Given the description of an element on the screen output the (x, y) to click on. 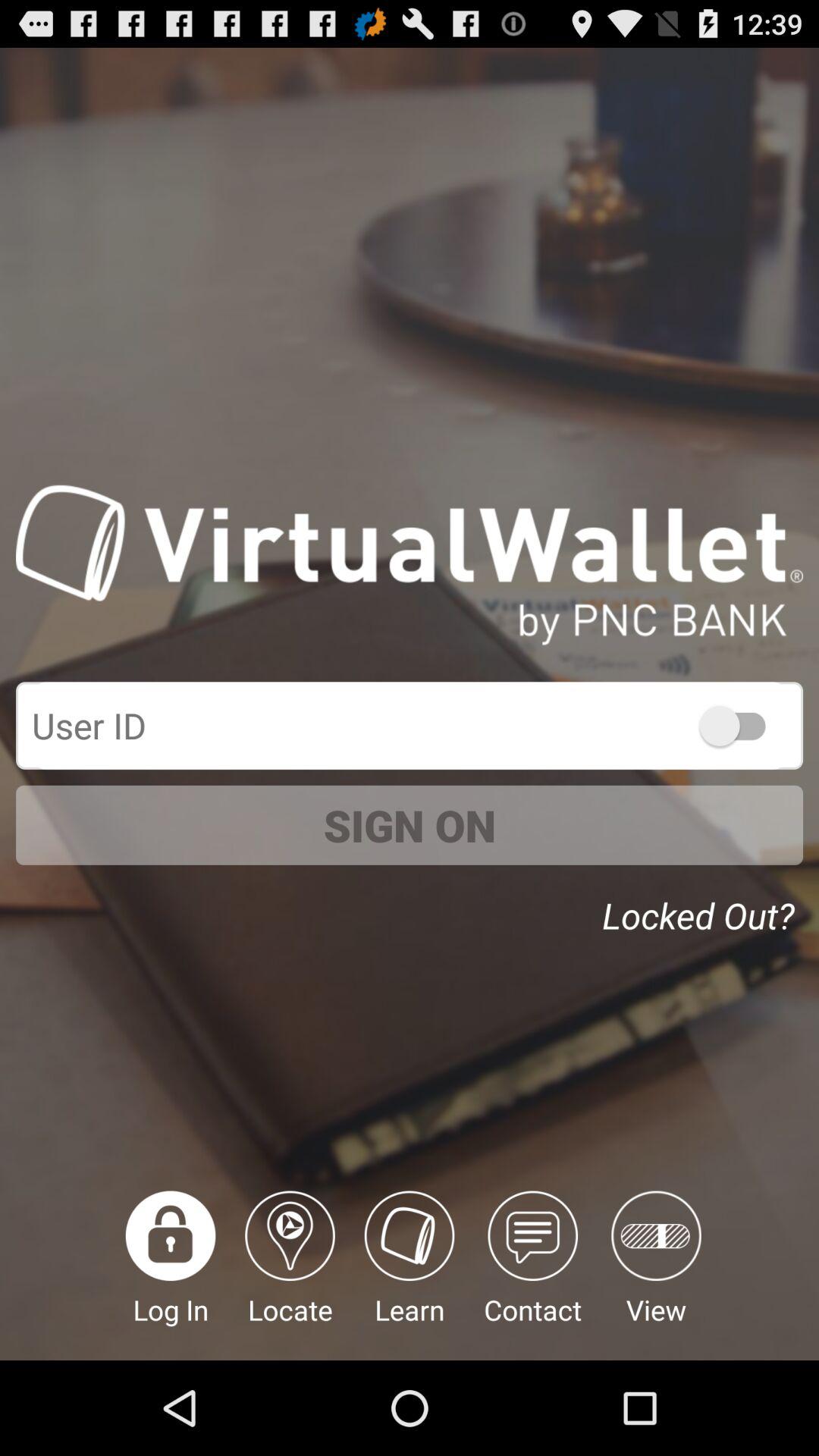
turn off the item below sign on item (702, 909)
